Given the description of an element on the screen output the (x, y) to click on. 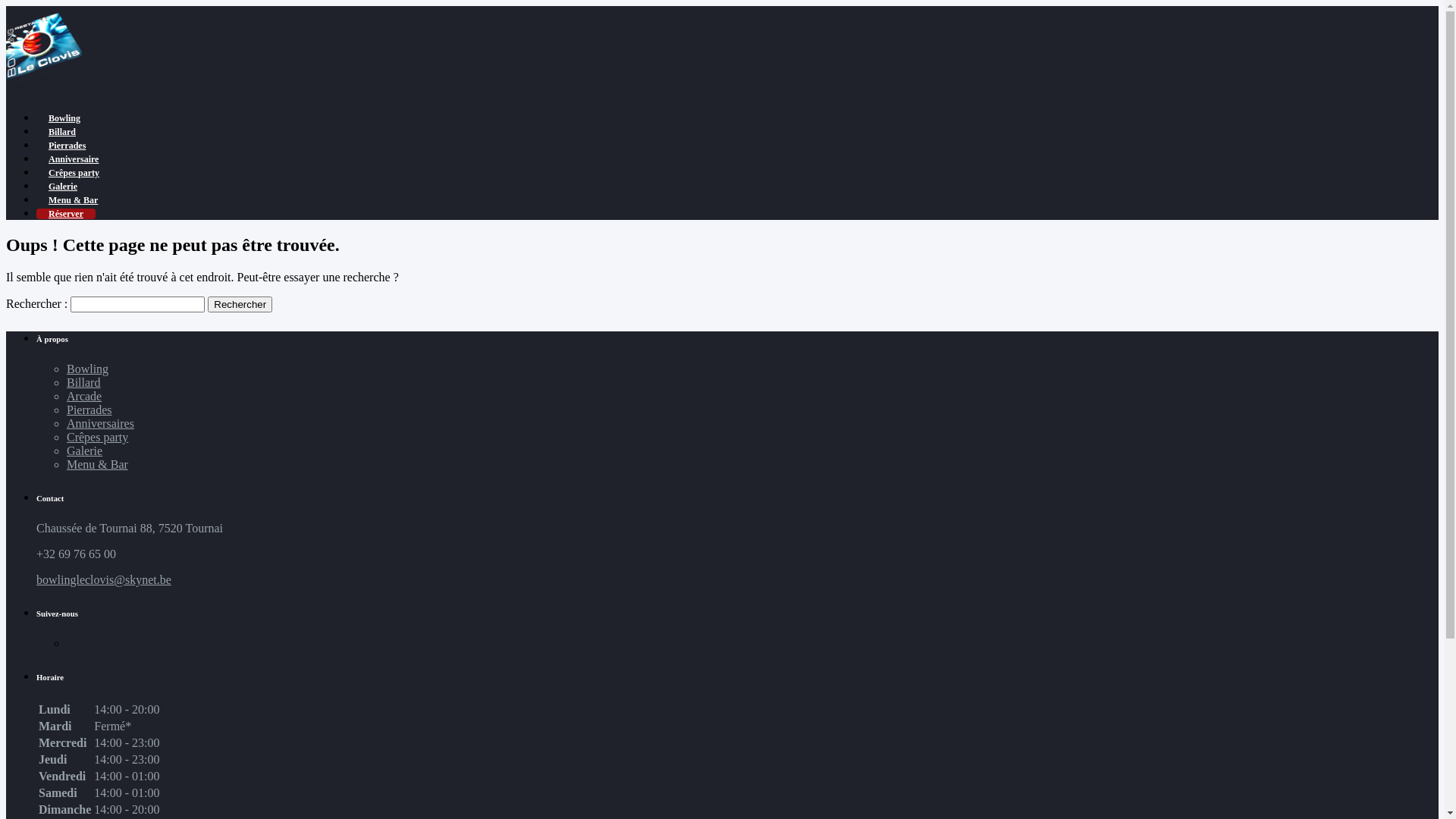
Pierrades Element type: text (66, 145)
Bowling Element type: text (87, 368)
Anniversaire Element type: text (73, 158)
Menu & Bar Element type: text (97, 464)
Bowling Element type: text (64, 117)
Galerie Element type: text (84, 450)
Billard Element type: text (61, 131)
Anniversaires Element type: text (100, 423)
Galerie Element type: text (62, 186)
Bowling le Clovis |  Element type: hover (43, 84)
Menu & Bar Element type: text (72, 199)
Rechercher Element type: text (239, 304)
Pierrades Element type: text (89, 409)
bowlingleclovis@skynet.be Element type: text (103, 579)
Arcade Element type: text (83, 395)
Billard Element type: text (83, 382)
